Given the description of an element on the screen output the (x, y) to click on. 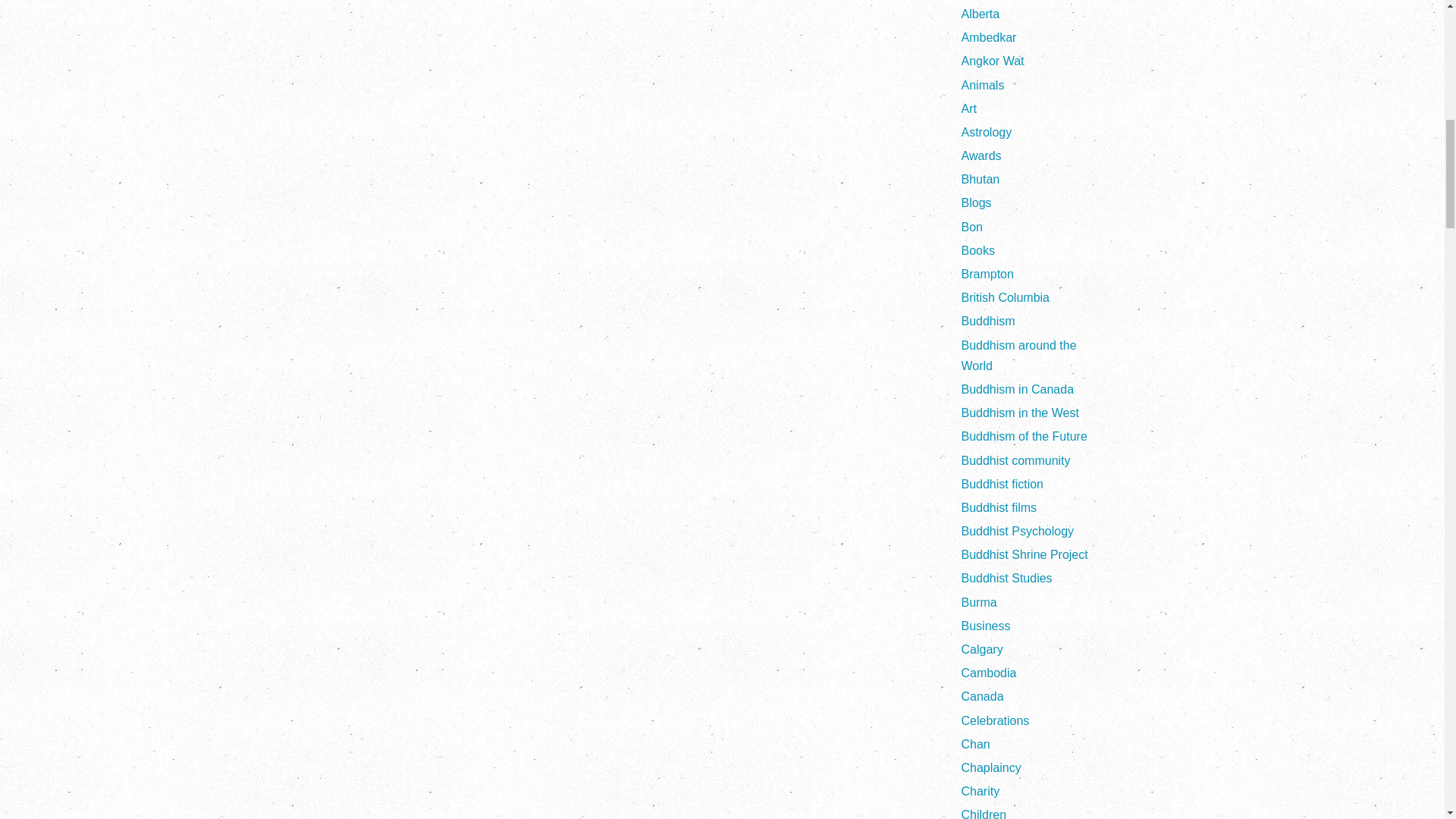
Show articles tagged Art (968, 108)
Show articles tagged Awards (980, 155)
Show articles tagged Blogs (975, 202)
Show articles tagged Animals (982, 84)
Show articles tagged Bhutan (980, 178)
Show articles tagged Alberta (980, 13)
Show articles tagged Ambedkar (988, 37)
Show articles tagged Astrology (985, 132)
Show articles tagged Angkor Wat (992, 60)
Show articles tagged Bon (971, 226)
